Given the description of an element on the screen output the (x, y) to click on. 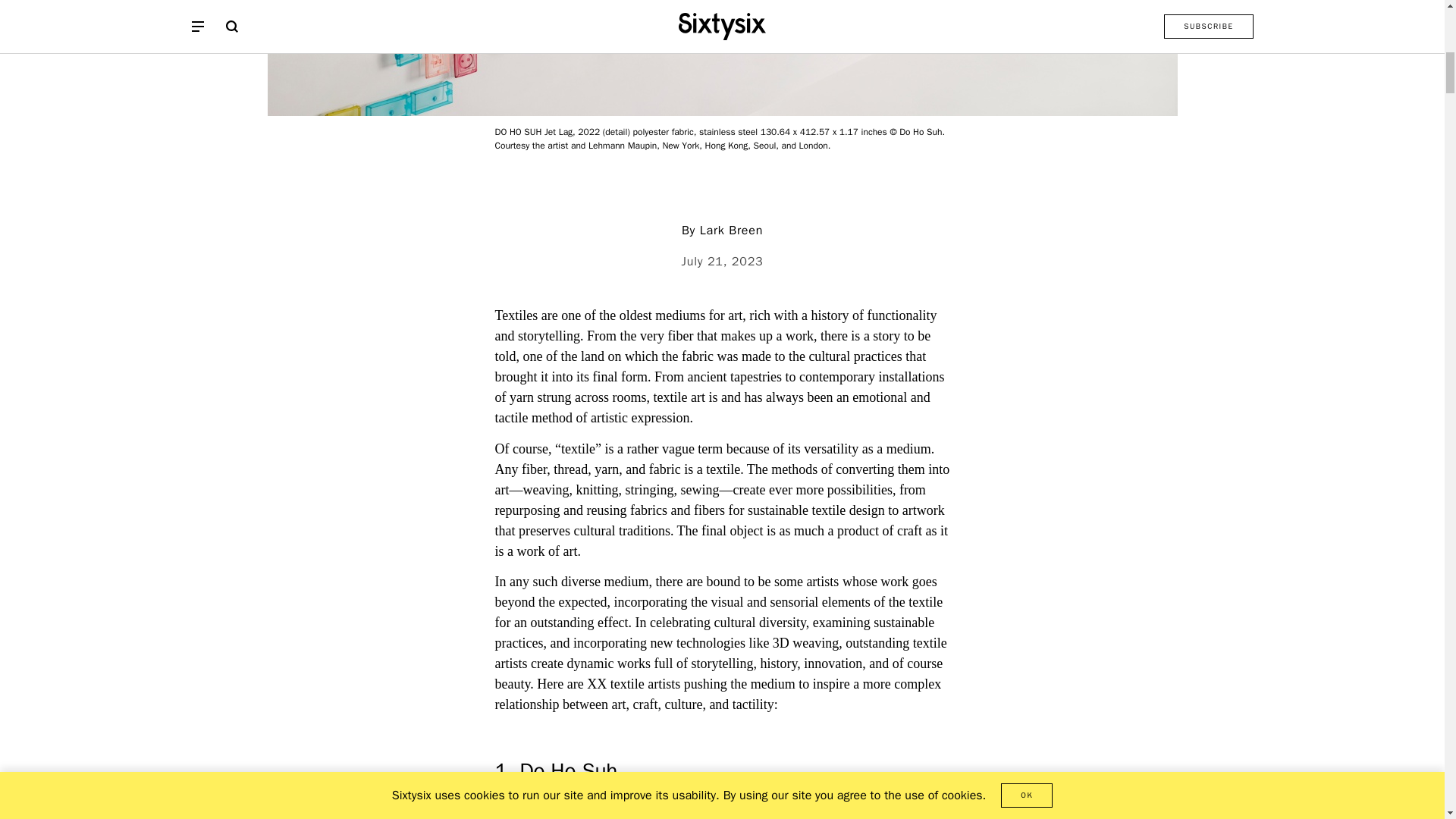
Lark Breen (731, 230)
Posts by Lark Breen (731, 230)
